Given the description of an element on the screen output the (x, y) to click on. 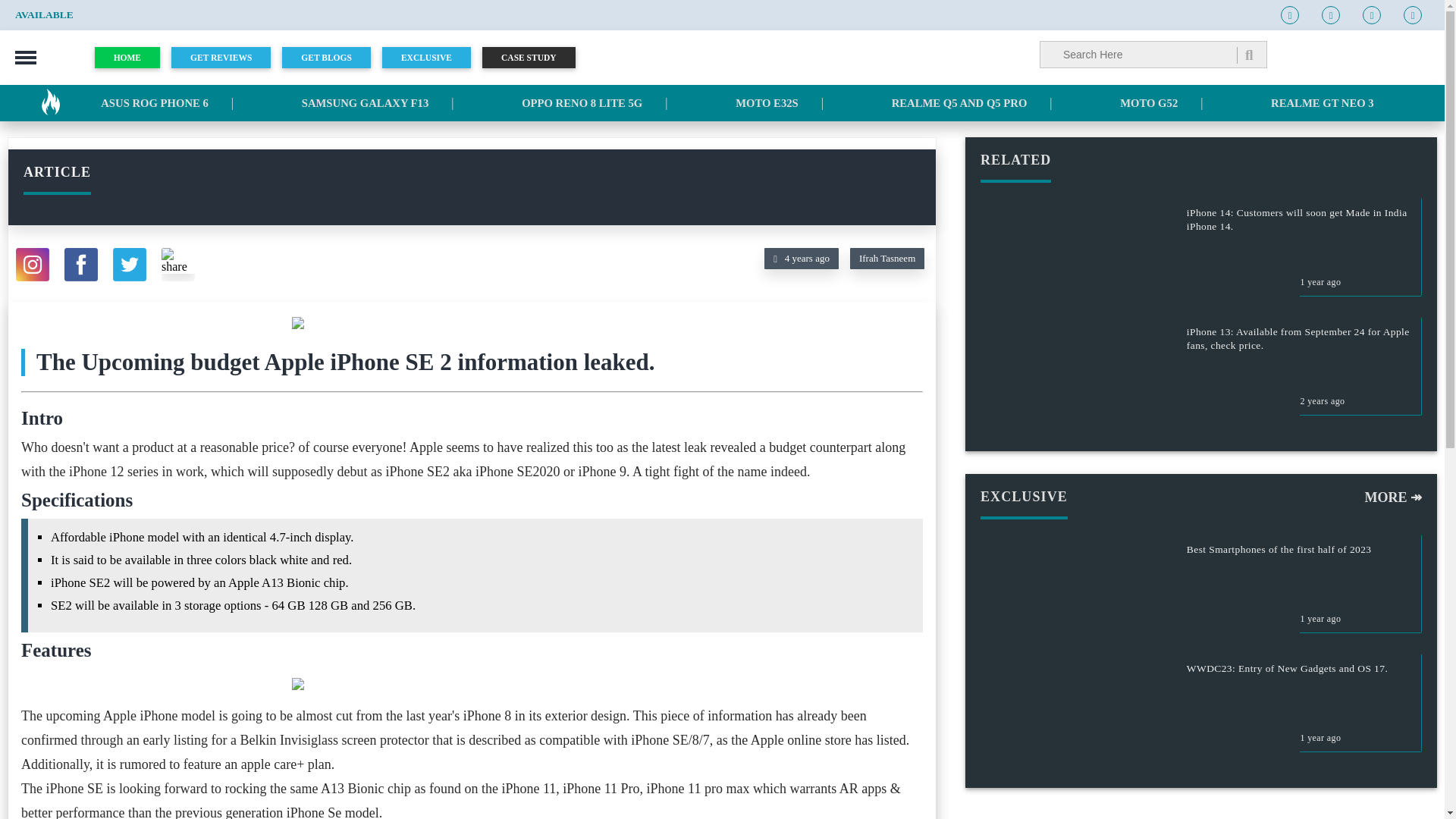
MOTO E32S (766, 102)
GET BLOGS (331, 56)
CASE STUDY (533, 56)
MOTO G52 (1148, 102)
EXCLUSIVE (431, 56)
ASUS ROG PHONE 6 (154, 102)
OPPO RENO 8 LITE 5G (581, 102)
HOME (132, 56)
SAMSUNG GALAXY F13 (365, 102)
GET REVIEWS (226, 56)
REALME GT NEO 3 (1322, 102)
REALME Q5 AND Q5 PRO (959, 102)
